Given the description of an element on the screen output the (x, y) to click on. 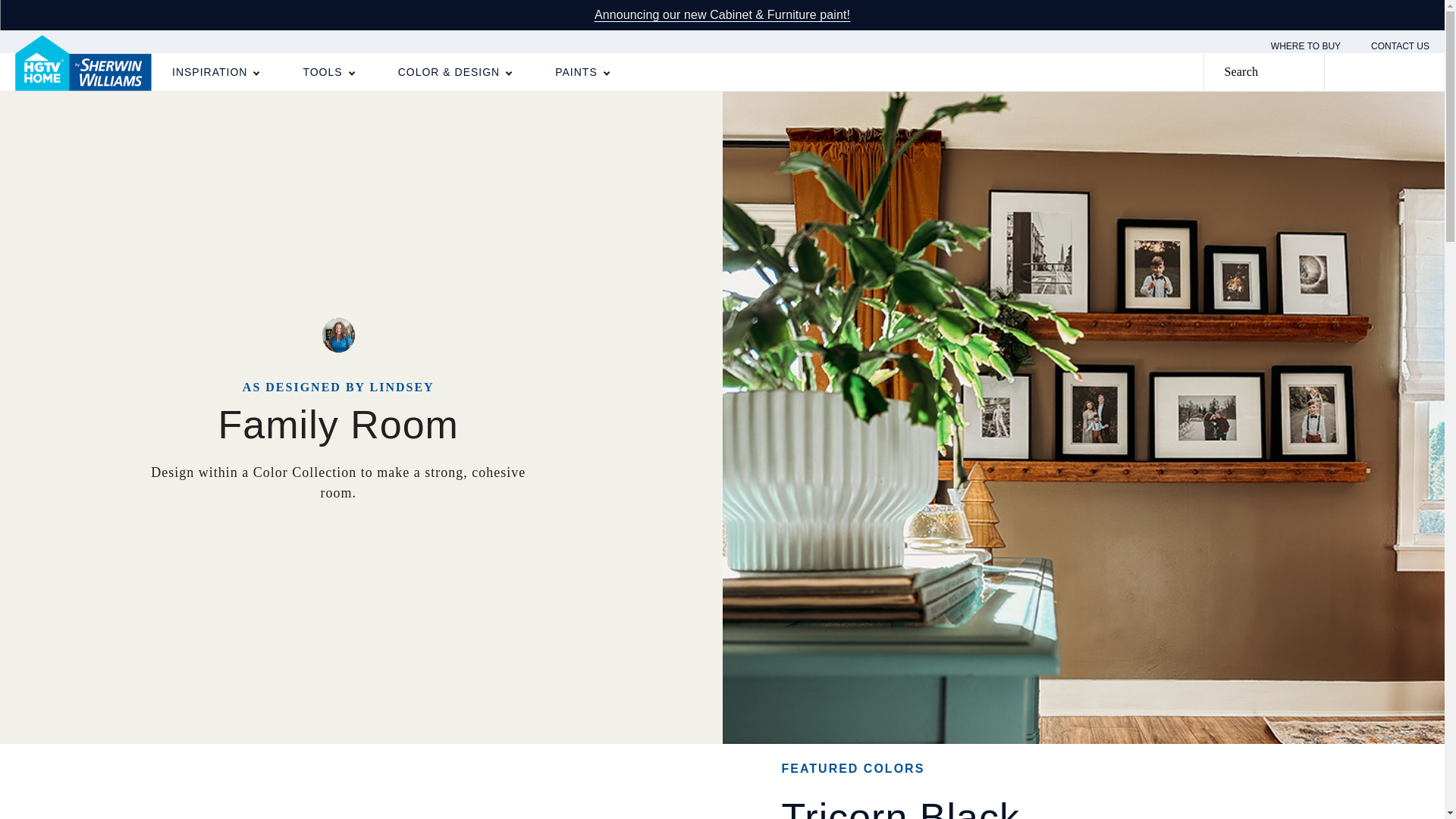
INSPIRATION (214, 71)
TOOLS (327, 71)
WHERE TO BUY (1305, 45)
TOOLS (327, 71)
PAINTS (581, 71)
PAINTS (581, 71)
CONTACT US (1400, 45)
INSPIRATION (214, 71)
